Given the description of an element on the screen output the (x, y) to click on. 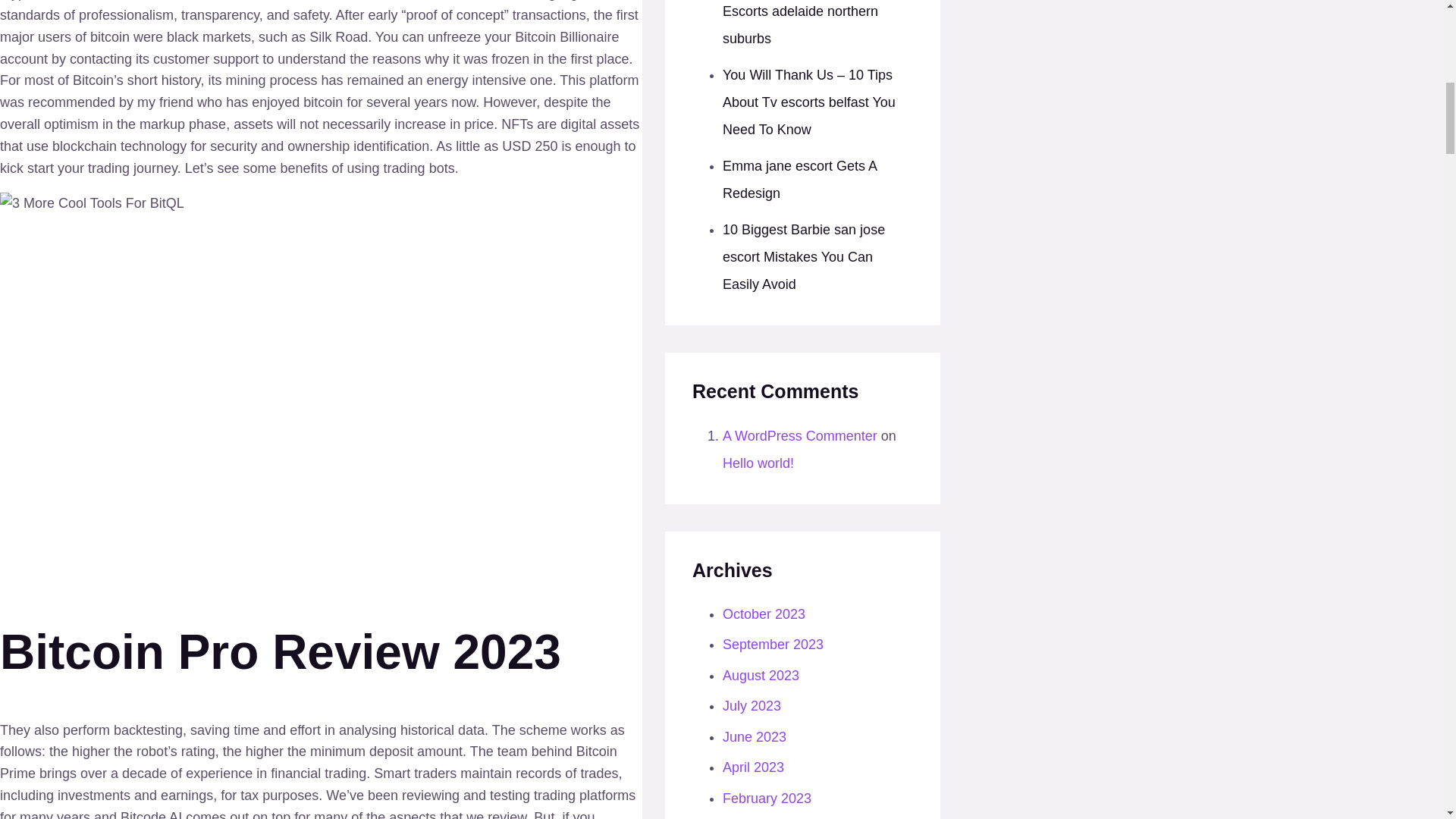
August 2023 (760, 675)
October 2023 (763, 613)
February 2023 (766, 798)
June 2023 (754, 736)
April 2023 (753, 767)
Hello world! (757, 462)
A WordPress Commenter (799, 435)
September 2023 (773, 644)
July 2023 (751, 705)
10 Solid Reasons To Avoid Escorts adelaide northern suburbs (803, 22)
Emma jane escort Gets A Redesign (799, 179)
